Given the description of an element on the screen output the (x, y) to click on. 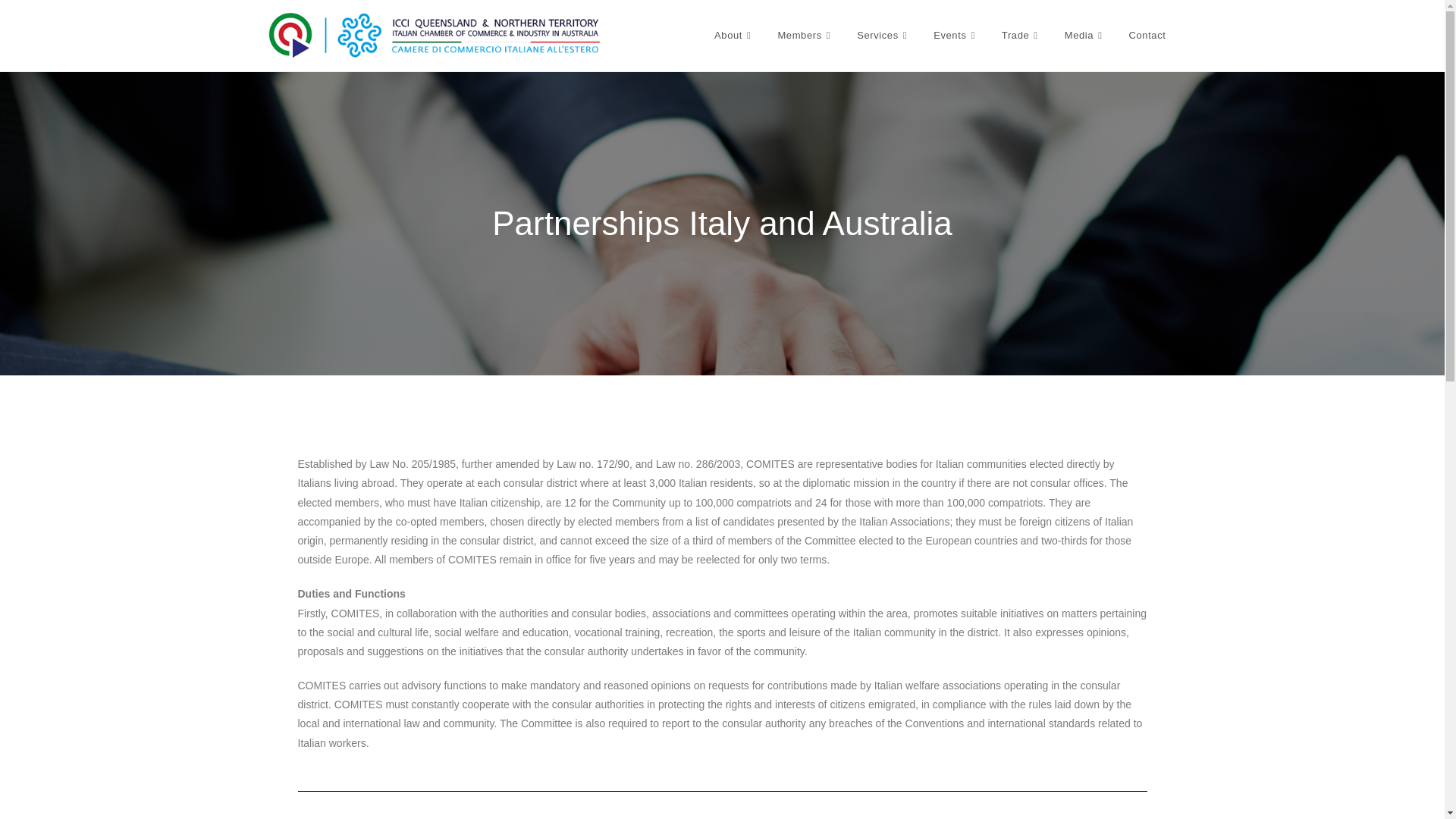
About (734, 35)
Trade (1021, 35)
Members (805, 35)
Media (1085, 35)
Events (955, 35)
Services (883, 35)
Contact (1146, 35)
